Given the description of an element on the screen output the (x, y) to click on. 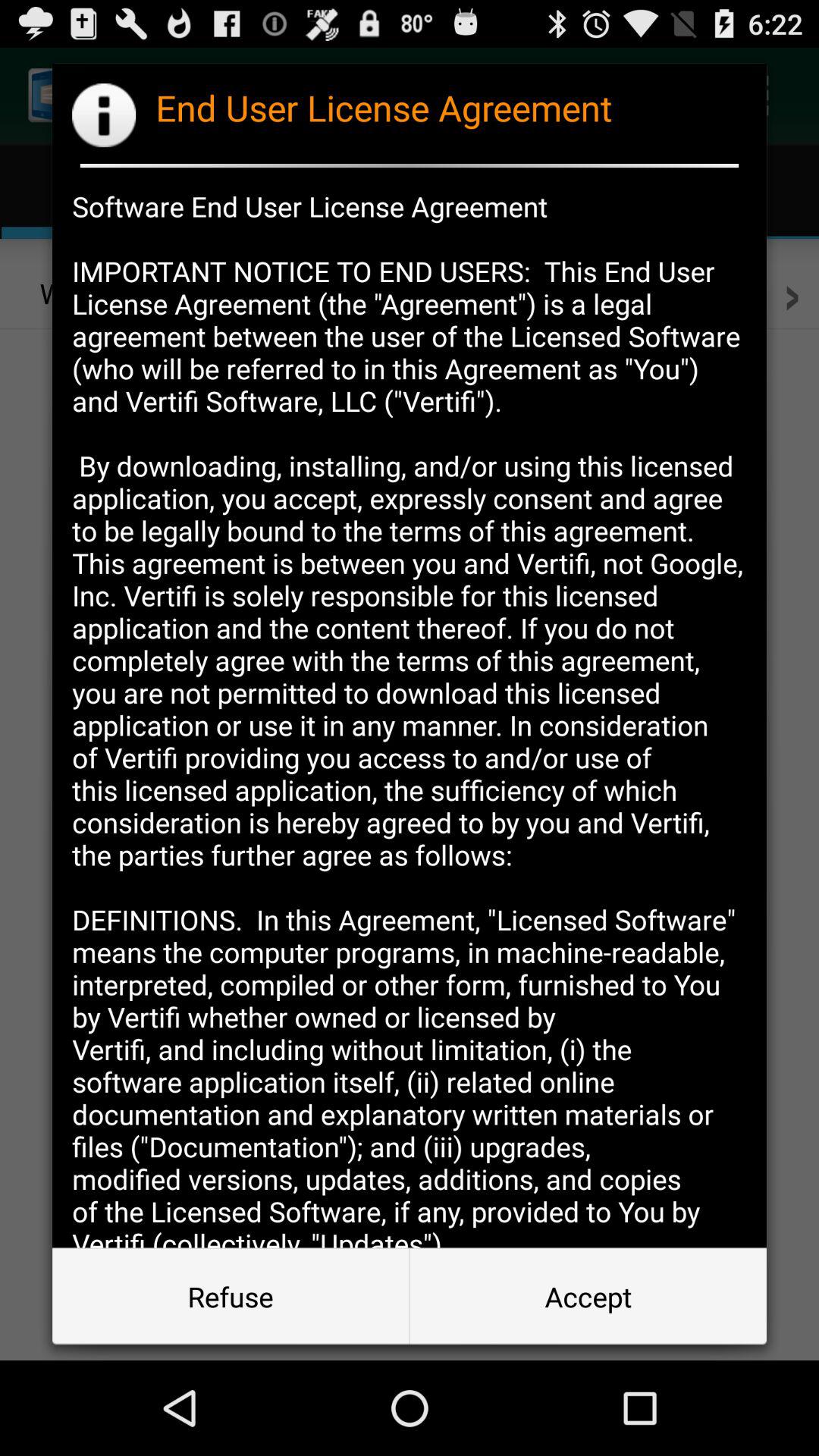
launch icon next to the refuse icon (588, 1296)
